Given the description of an element on the screen output the (x, y) to click on. 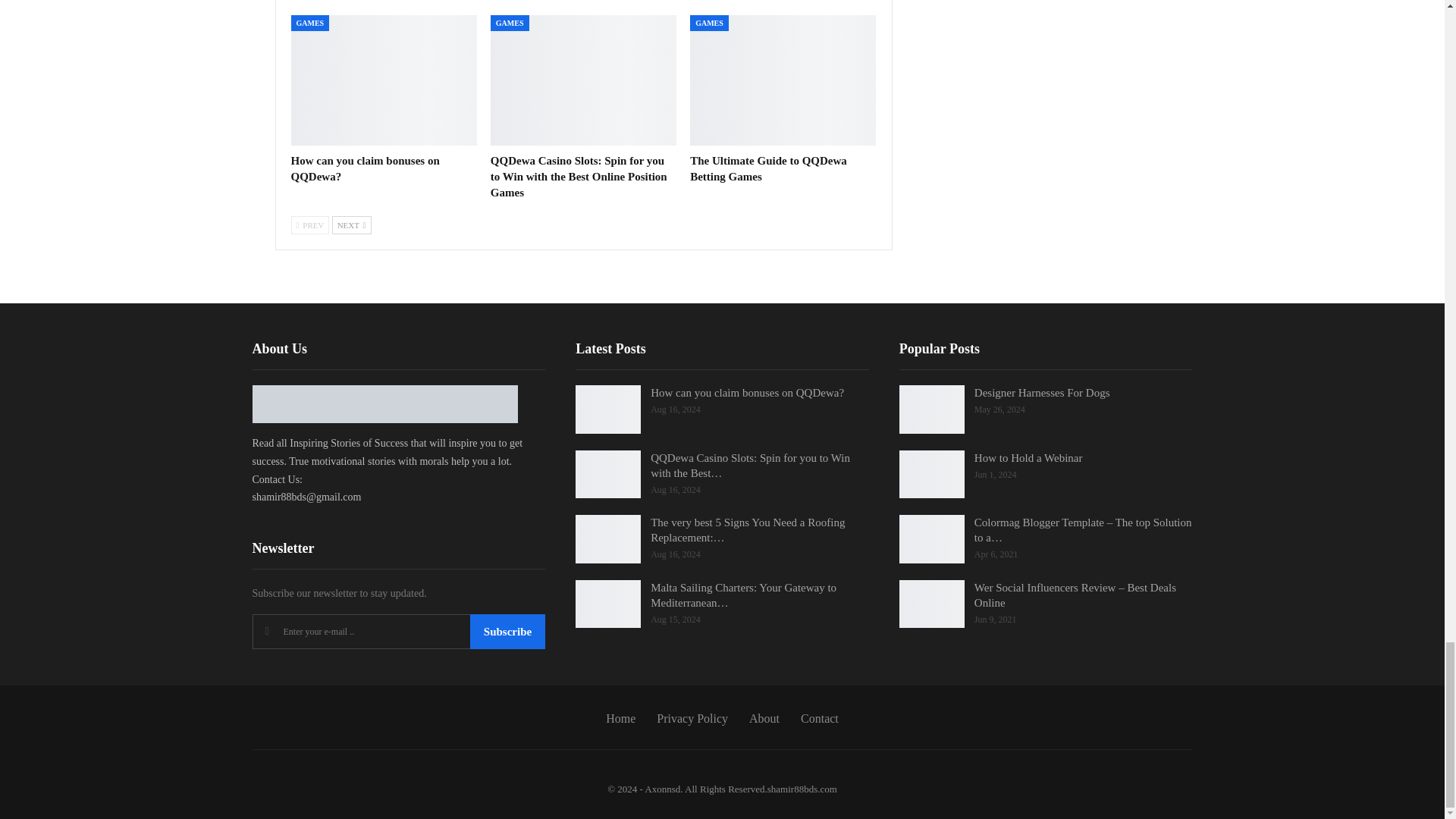
Previous (310, 225)
The Ultimate Guide to QQDewa Betting Games (783, 80)
The Ultimate Guide to QQDewa Betting Games (768, 168)
How can you claim bonuses on QQDewa? (384, 80)
How can you claim bonuses on QQDewa? (365, 168)
